Given the description of an element on the screen output the (x, y) to click on. 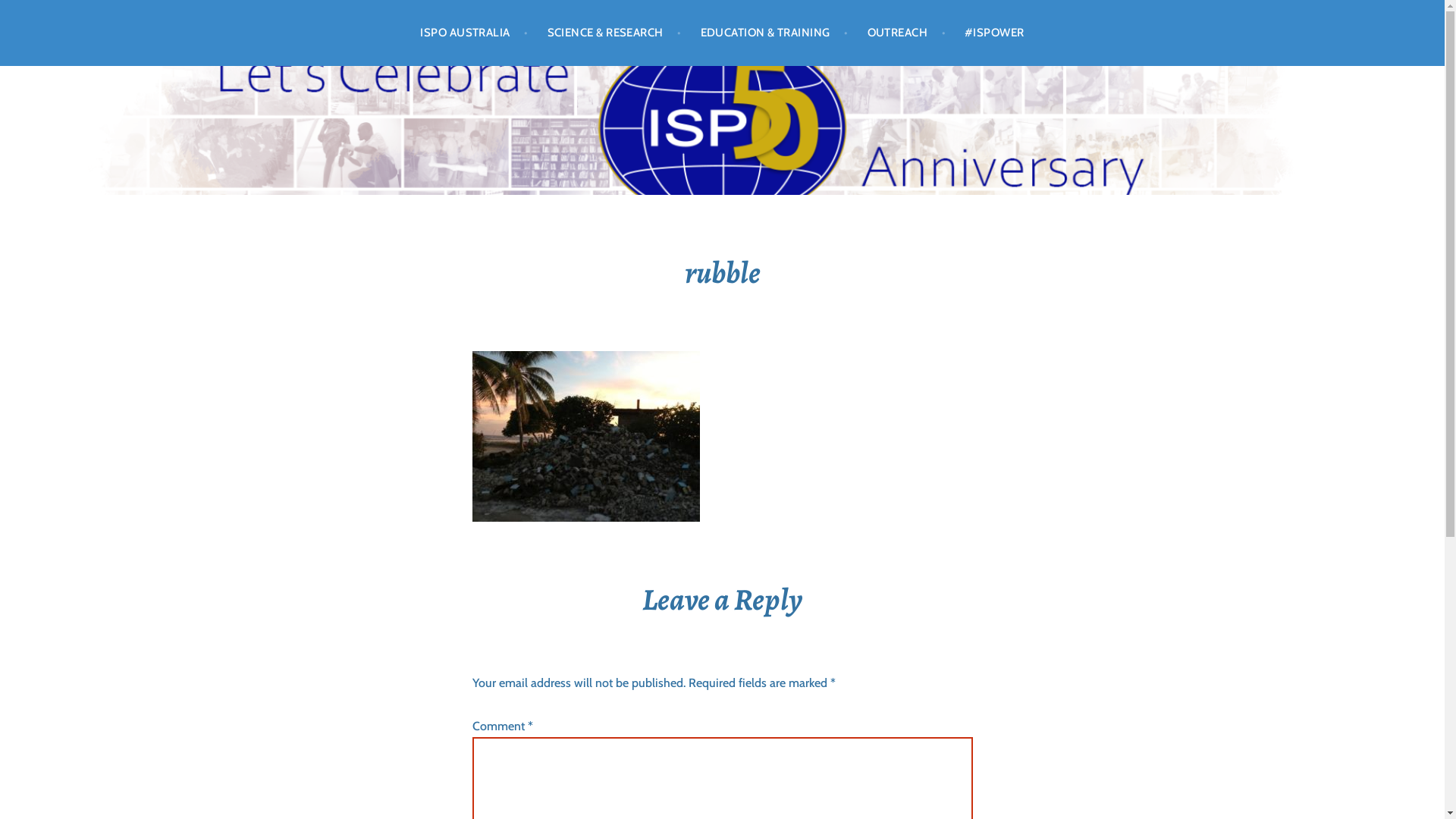
ISPO AUSTRALIA NEWS Element type: text (184, 156)
SCIENCE & RESEARCH Element type: text (614, 32)
#ISPOWER Element type: text (994, 32)
EDUCATION & TRAINING Element type: text (774, 32)
OUTREACH Element type: text (906, 32)
ISPO AUSTRALIA Element type: text (473, 32)
